Given the description of an element on the screen output the (x, y) to click on. 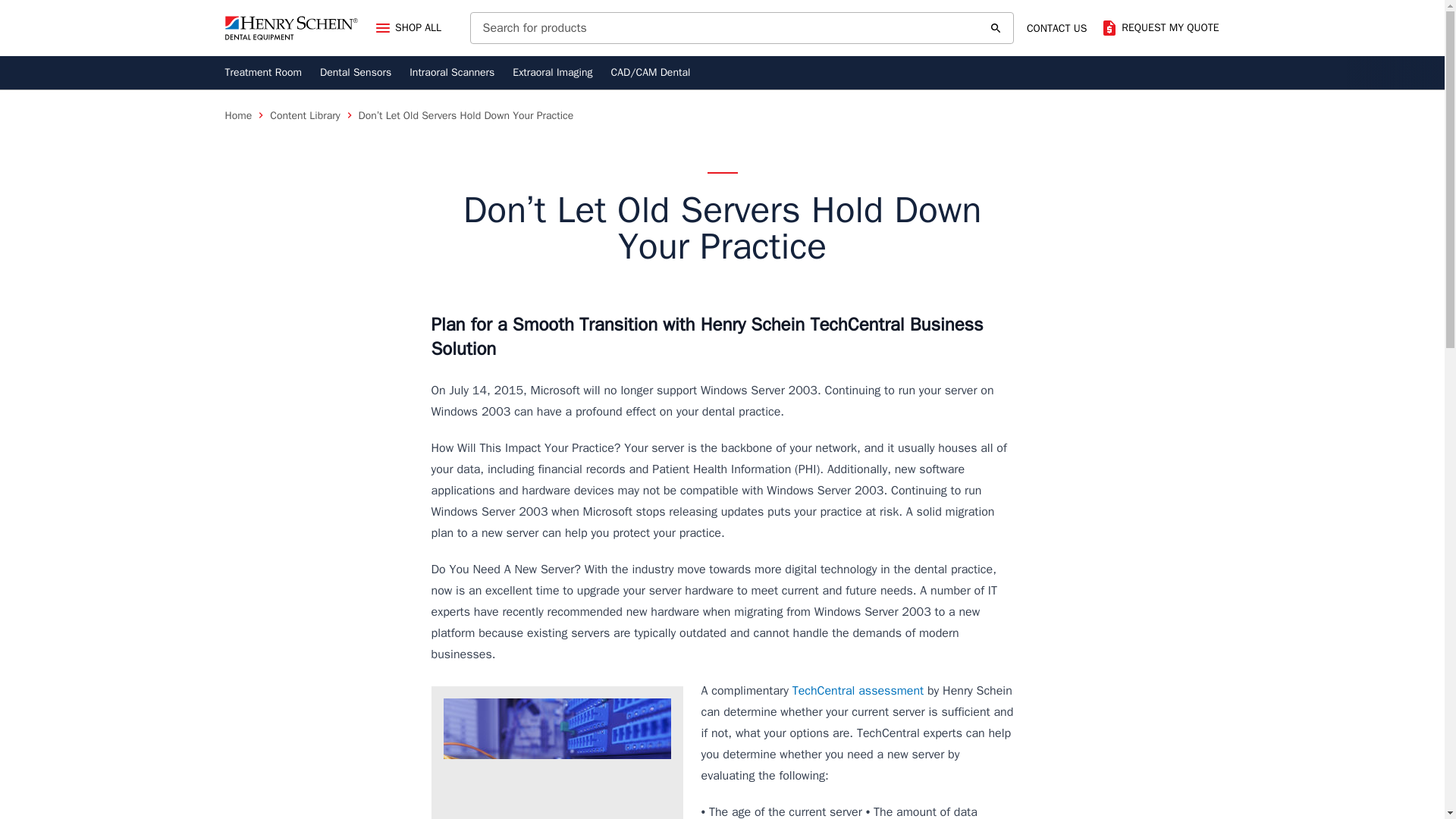
Intraoral Scanners (452, 72)
Treatment Room (262, 72)
Search (994, 28)
Content Library (304, 115)
Extraoral Imaging (552, 72)
REQUEST MY QUOTE (1159, 27)
TechCentral assessment (858, 690)
SHOP ALL (407, 28)
Home (237, 115)
CONTACT US (1056, 28)
Dental Sensors (355, 72)
